Given the description of an element on the screen output the (x, y) to click on. 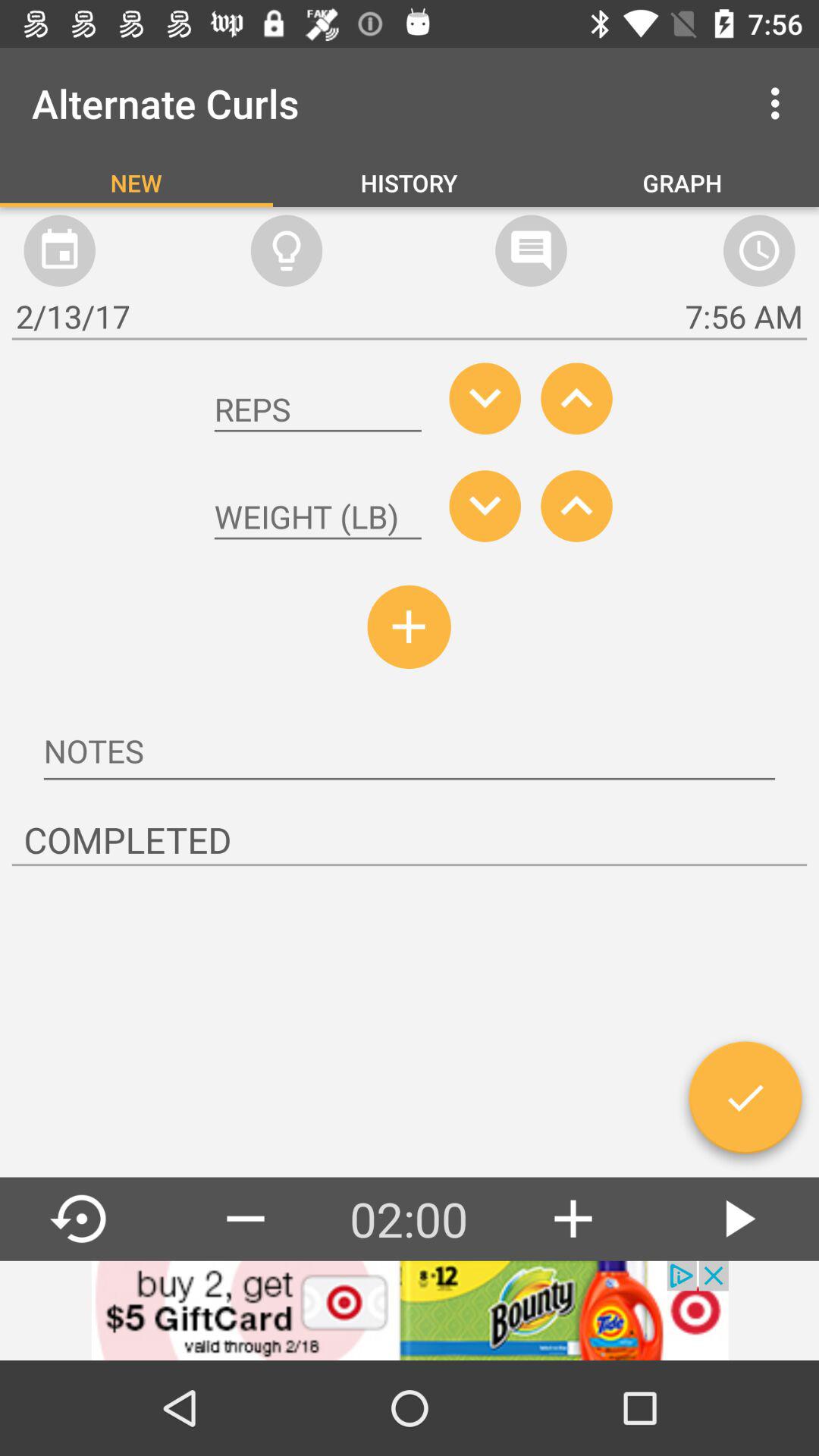
banner advertisement (409, 1310)
